Given the description of an element on the screen output the (x, y) to click on. 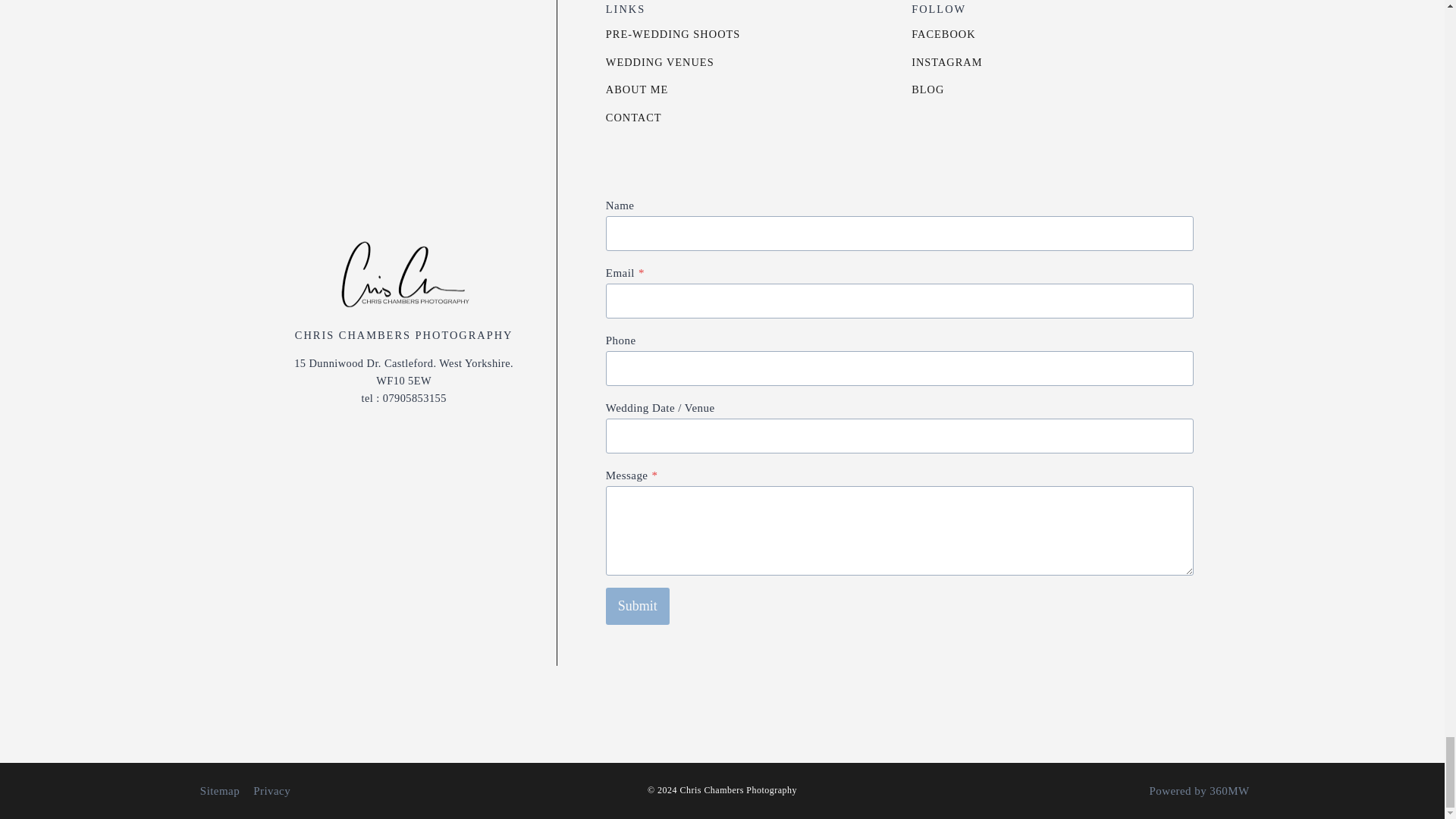
FACEBOOK (957, 34)
PRE-WEDDING SHOOTS (686, 34)
360MW (1229, 790)
BLOG (941, 90)
Submit (637, 606)
ABOUT ME (650, 90)
Privacy (271, 790)
INSTAGRAM (960, 62)
CONTACT (646, 118)
WEDDING VENUES (673, 62)
Sitemap (219, 790)
